Given the description of an element on the screen output the (x, y) to click on. 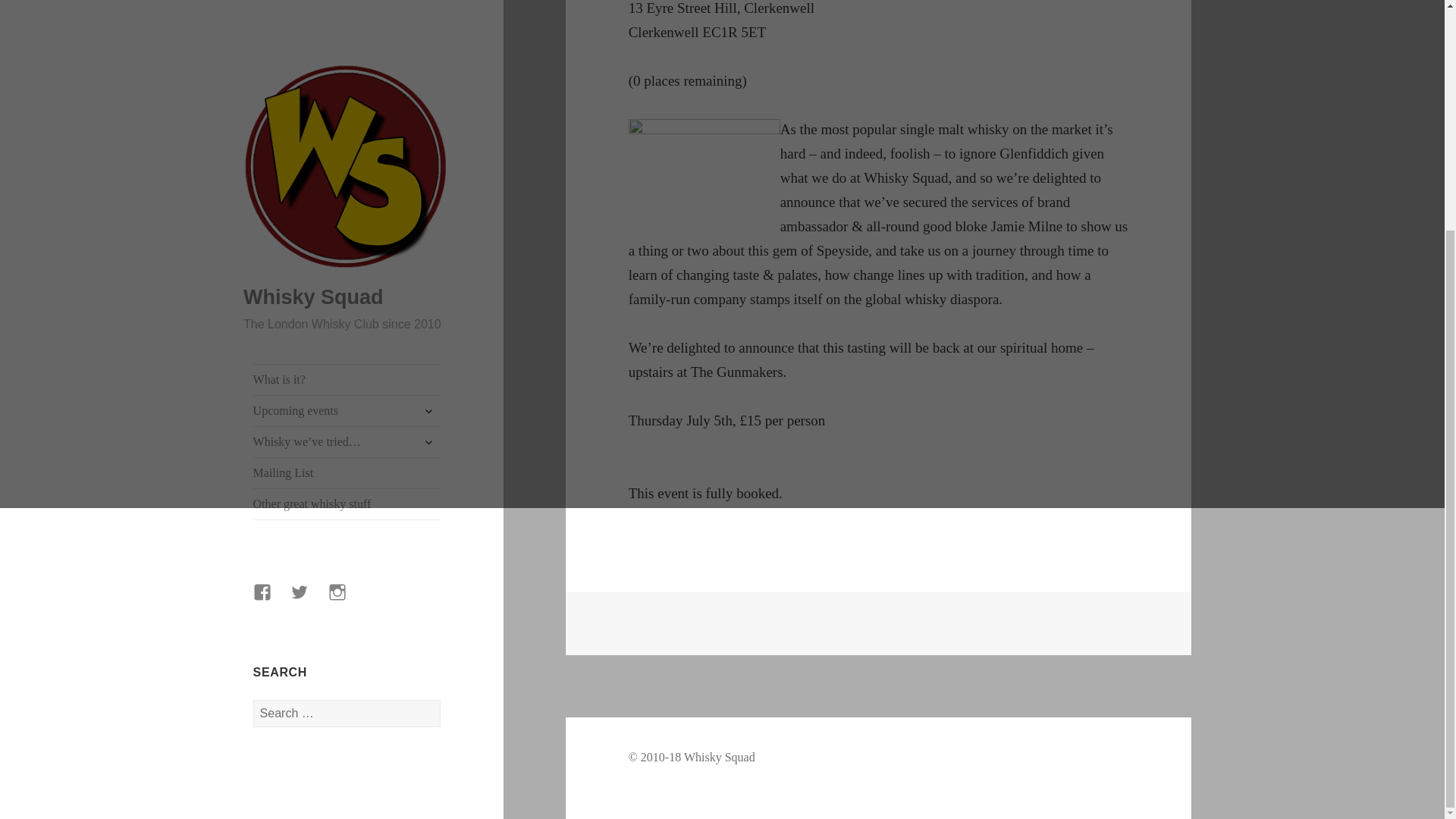
expand child menu (428, 99)
expand child menu (428, 130)
What is it? (347, 69)
Twitter (307, 289)
Instagram (347, 289)
Upcoming events (347, 100)
Other great whisky stuff (347, 193)
Mailing List (347, 162)
FB (271, 289)
